Given the description of an element on the screen output the (x, y) to click on. 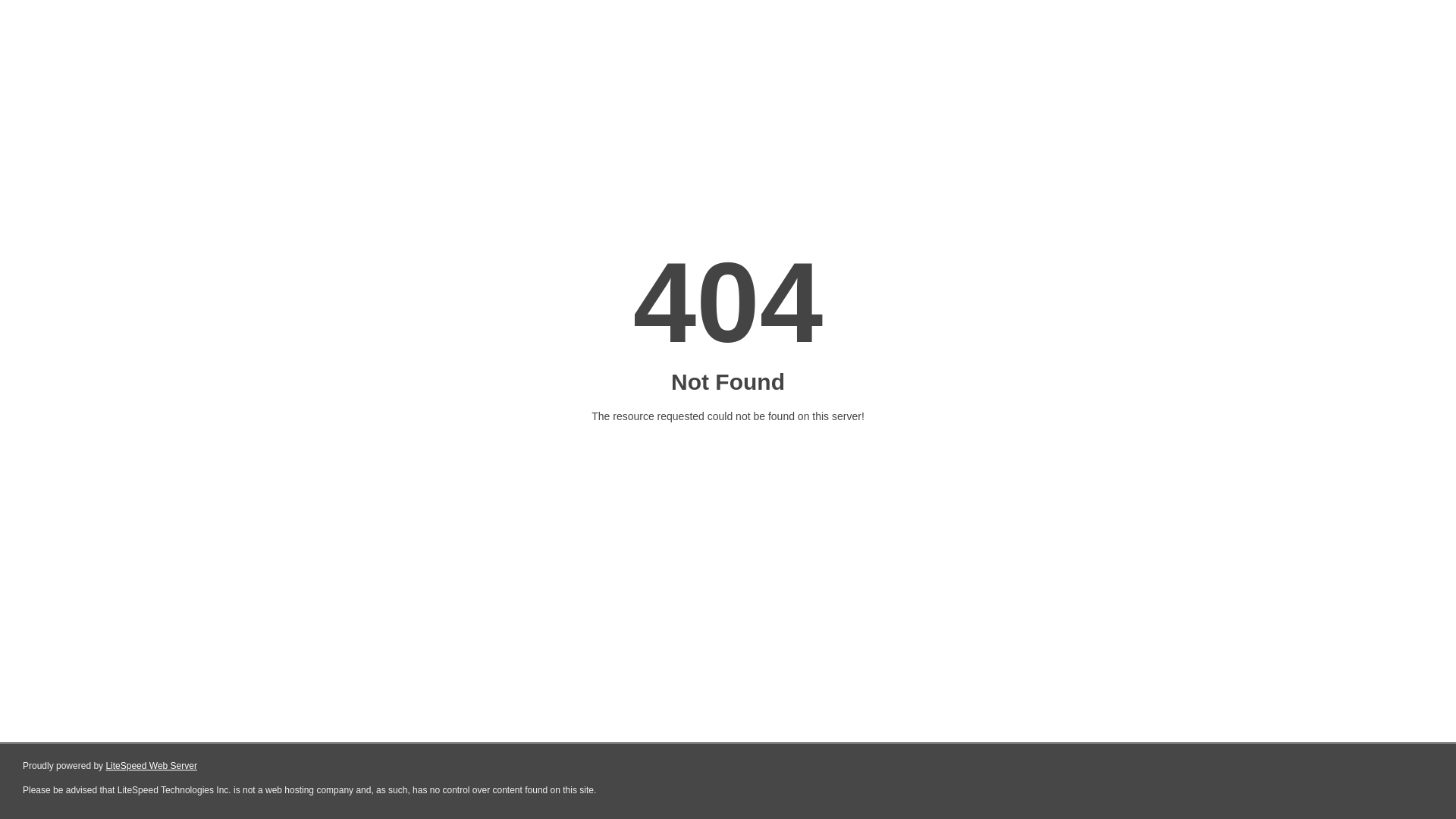
LiteSpeed Web Server Element type: text (151, 765)
